Given the description of an element on the screen output the (x, y) to click on. 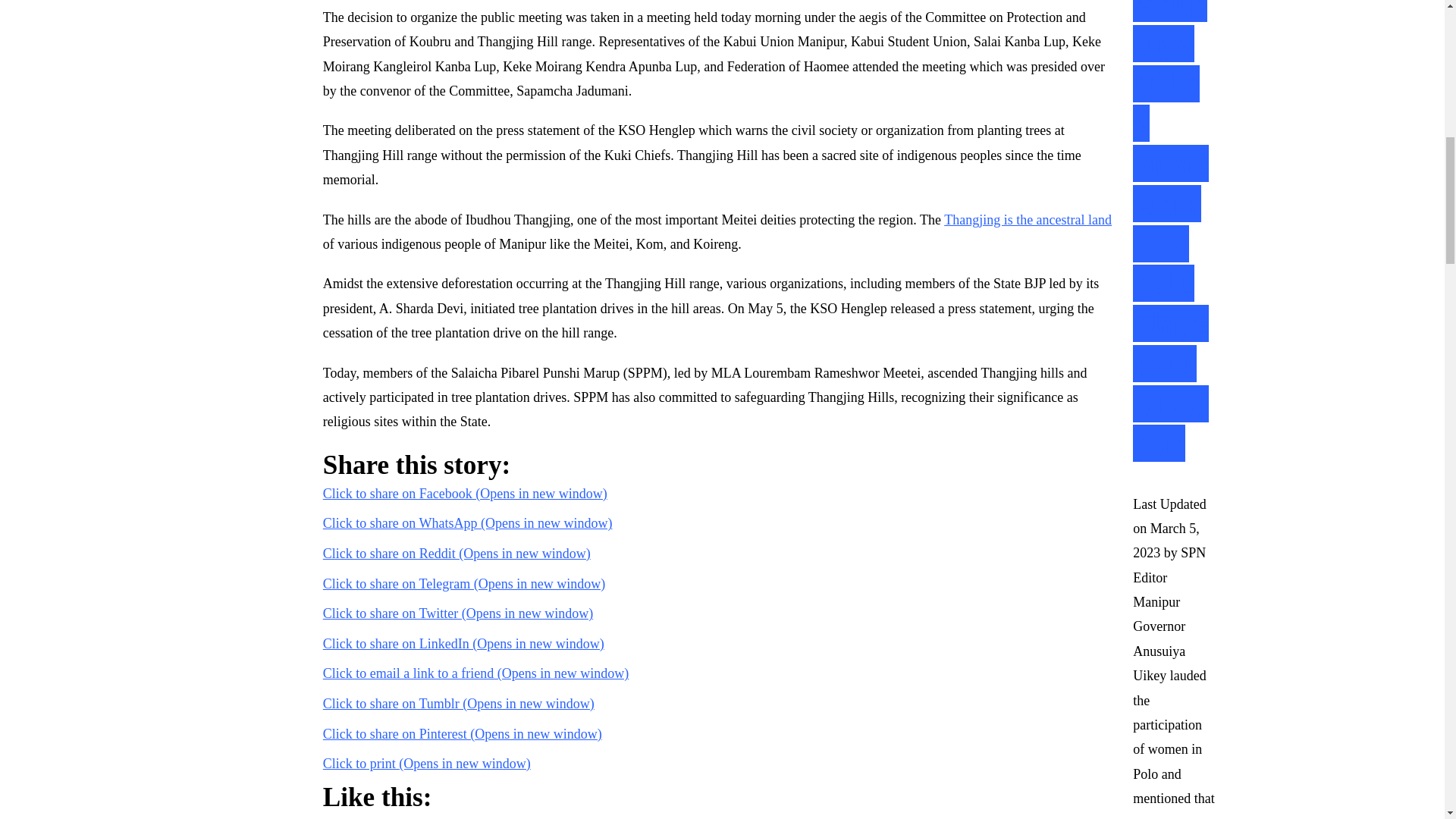
Click to share on Facebook (465, 493)
Click to share on Twitter (457, 613)
Click to share on WhatsApp (467, 522)
Click to share on Tumblr (458, 703)
Click to share on LinkedIn (463, 643)
Click to share on Reddit (457, 553)
Click to share on Pinterest (462, 734)
Click to print (427, 763)
Thangjing is the ancestral land (1027, 219)
Click to share on Telegram (464, 583)
